Given the description of an element on the screen output the (x, y) to click on. 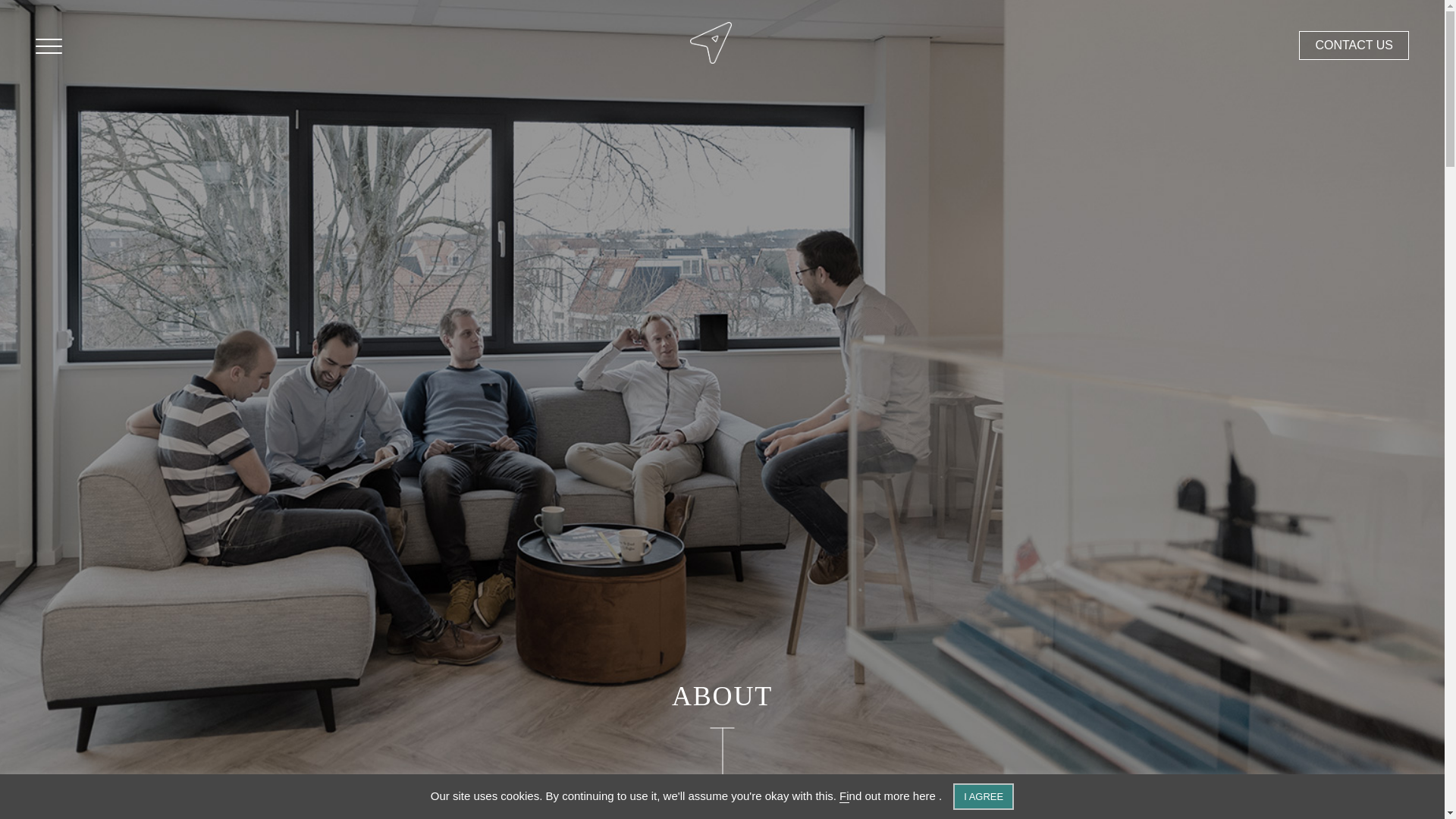
I AGREE (983, 795)
Find out more here (889, 796)
CONTACT US (1353, 44)
